Given the description of an element on the screen output the (x, y) to click on. 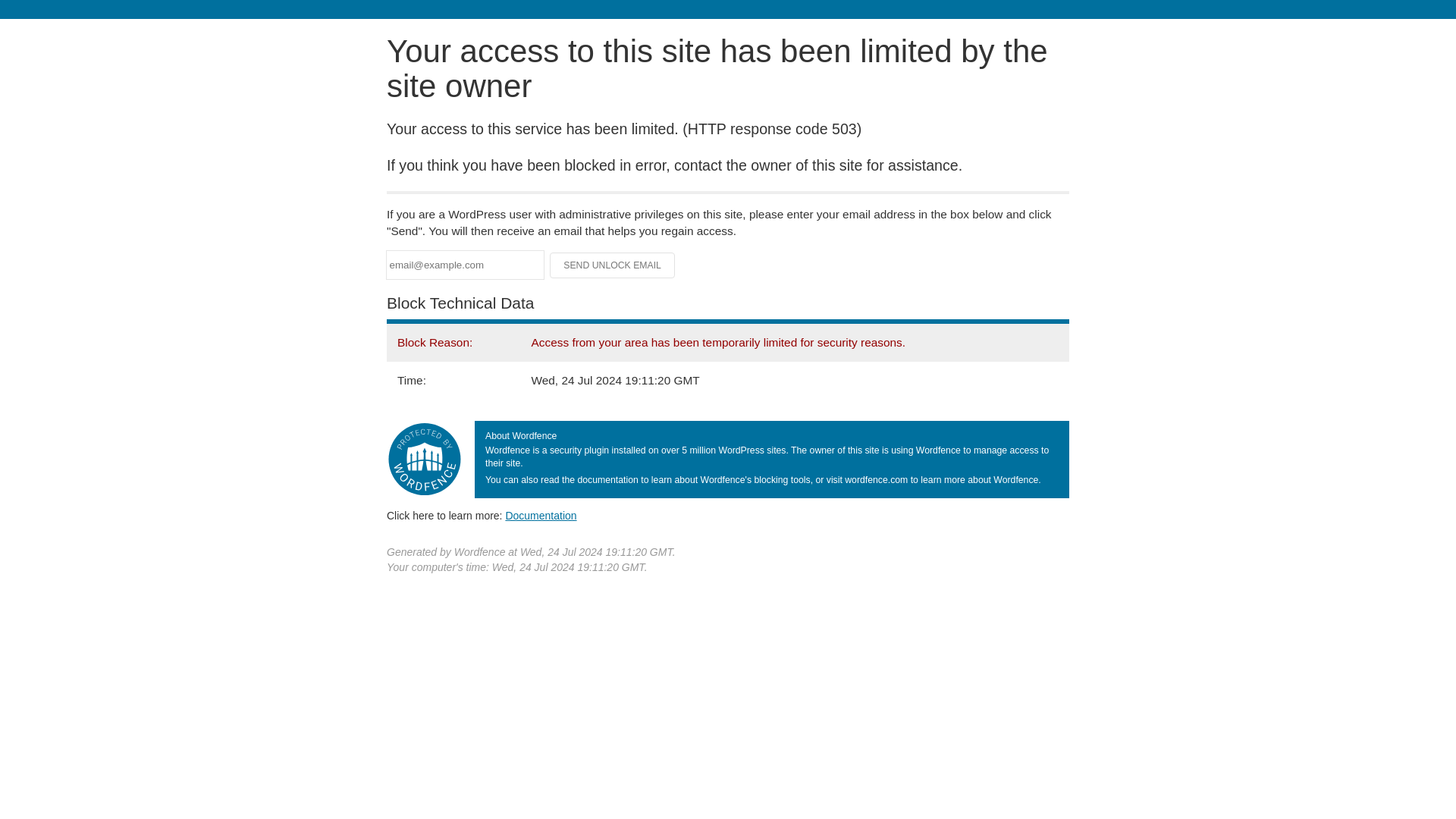
Documentation (540, 515)
Send Unlock Email (612, 265)
Send Unlock Email (612, 265)
